Given the description of an element on the screen output the (x, y) to click on. 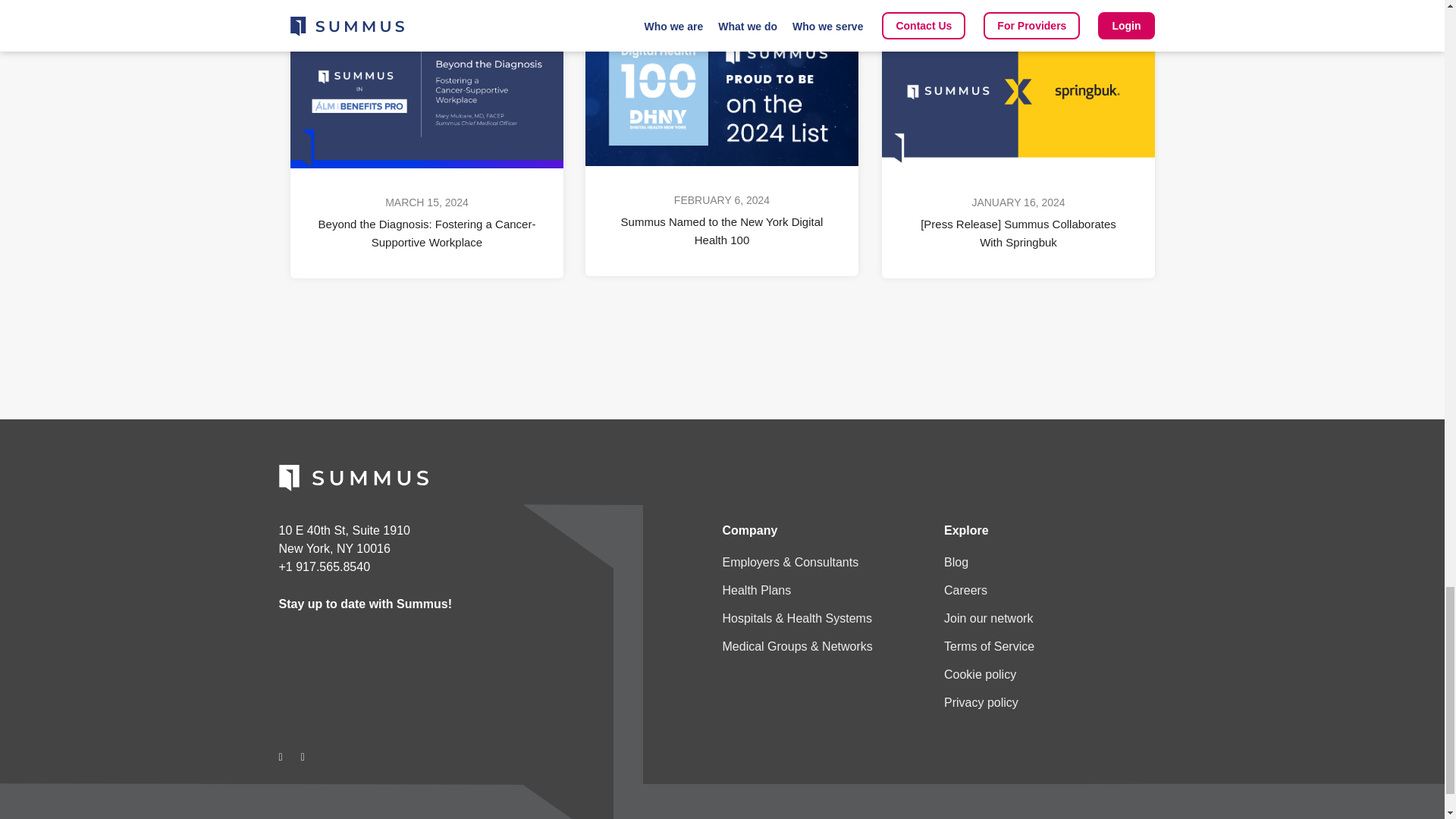
Form 1 (389, 679)
